Given the description of an element on the screen output the (x, y) to click on. 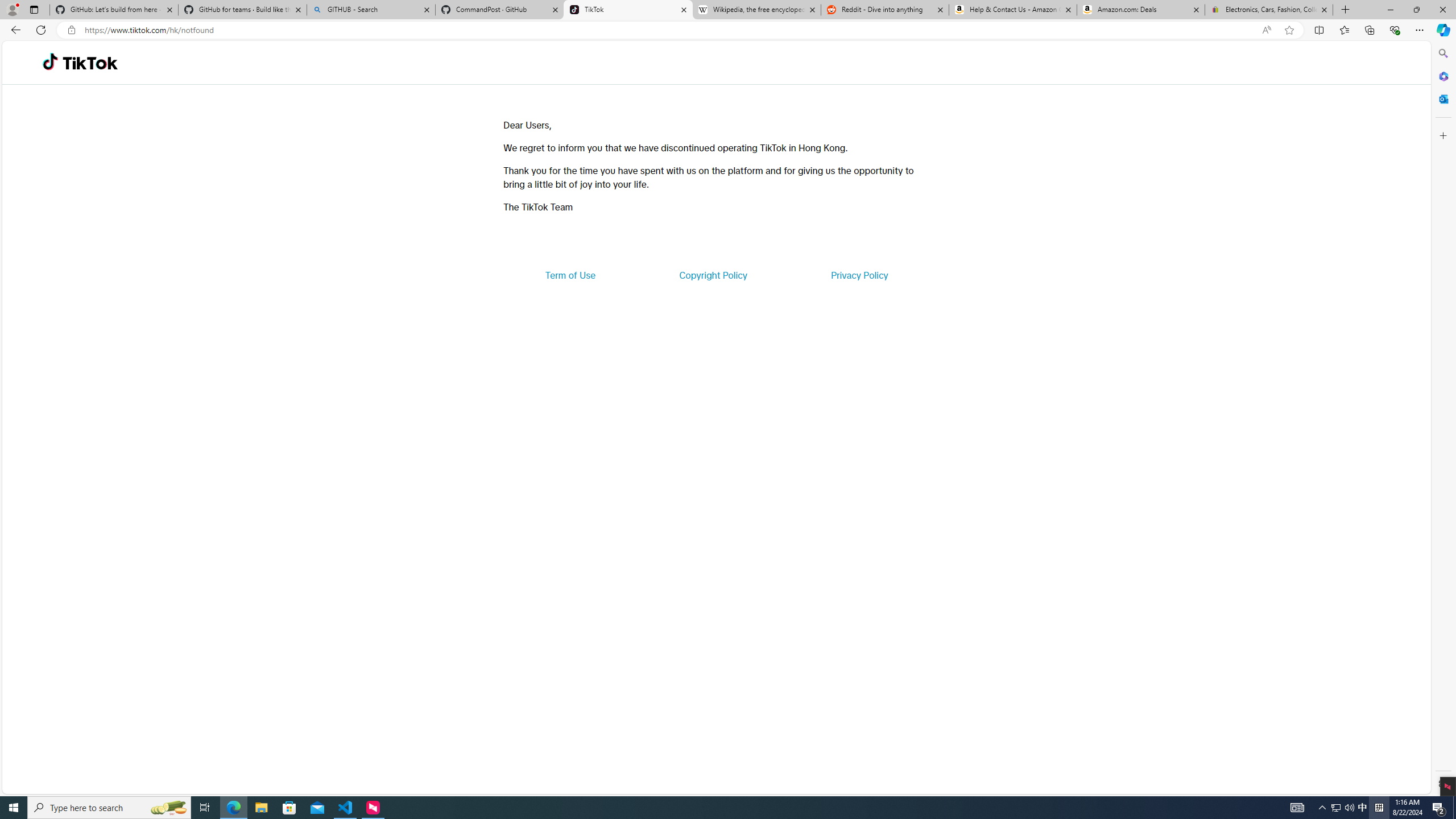
GITHUB - Search (370, 9)
Amazon.com: Deals (1140, 9)
Copyright Policy (712, 274)
